Given the description of an element on the screen output the (x, y) to click on. 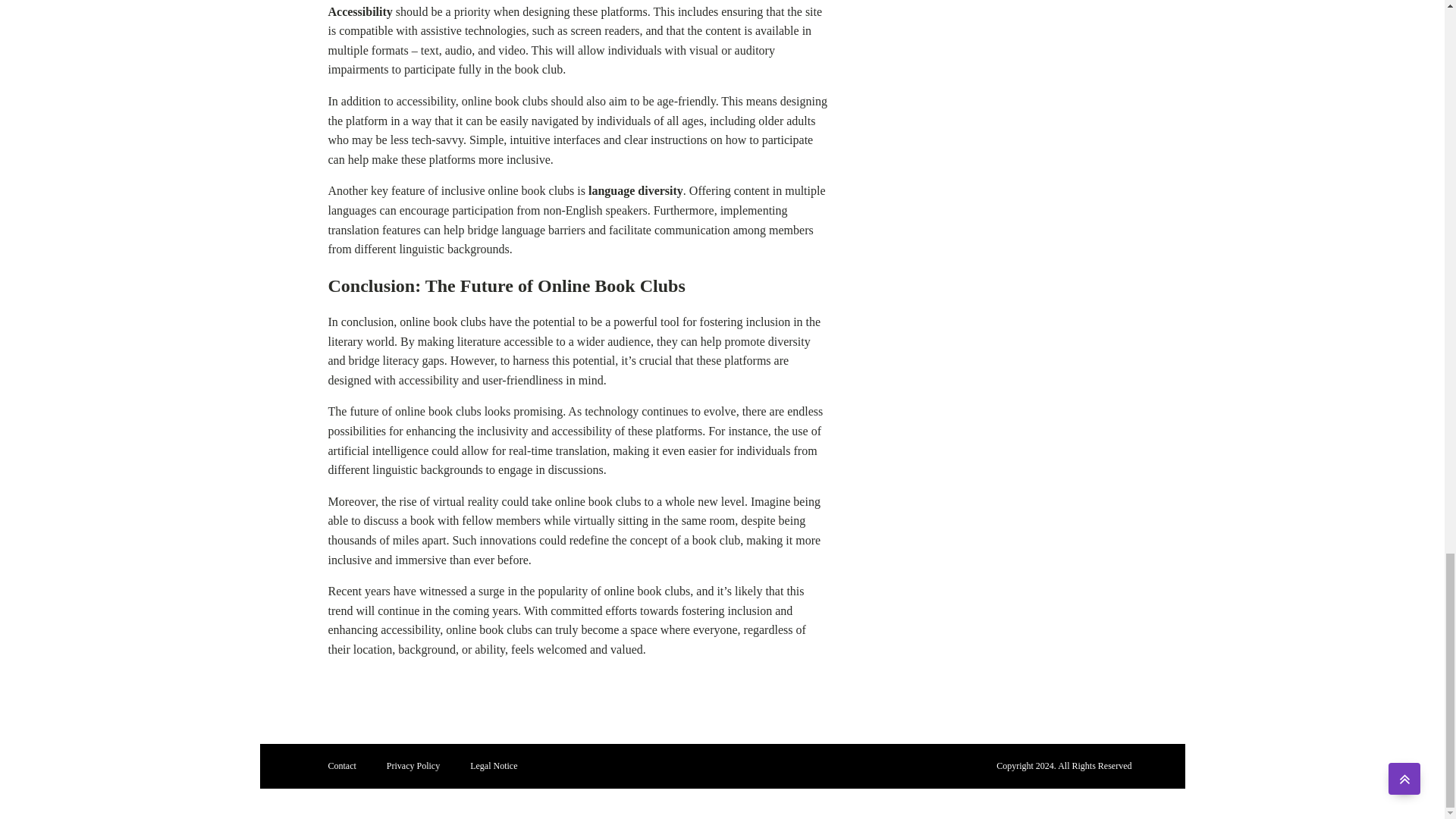
Contact (342, 766)
Privacy Policy (412, 766)
Legal Notice (493, 766)
